Given the description of an element on the screen output the (x, y) to click on. 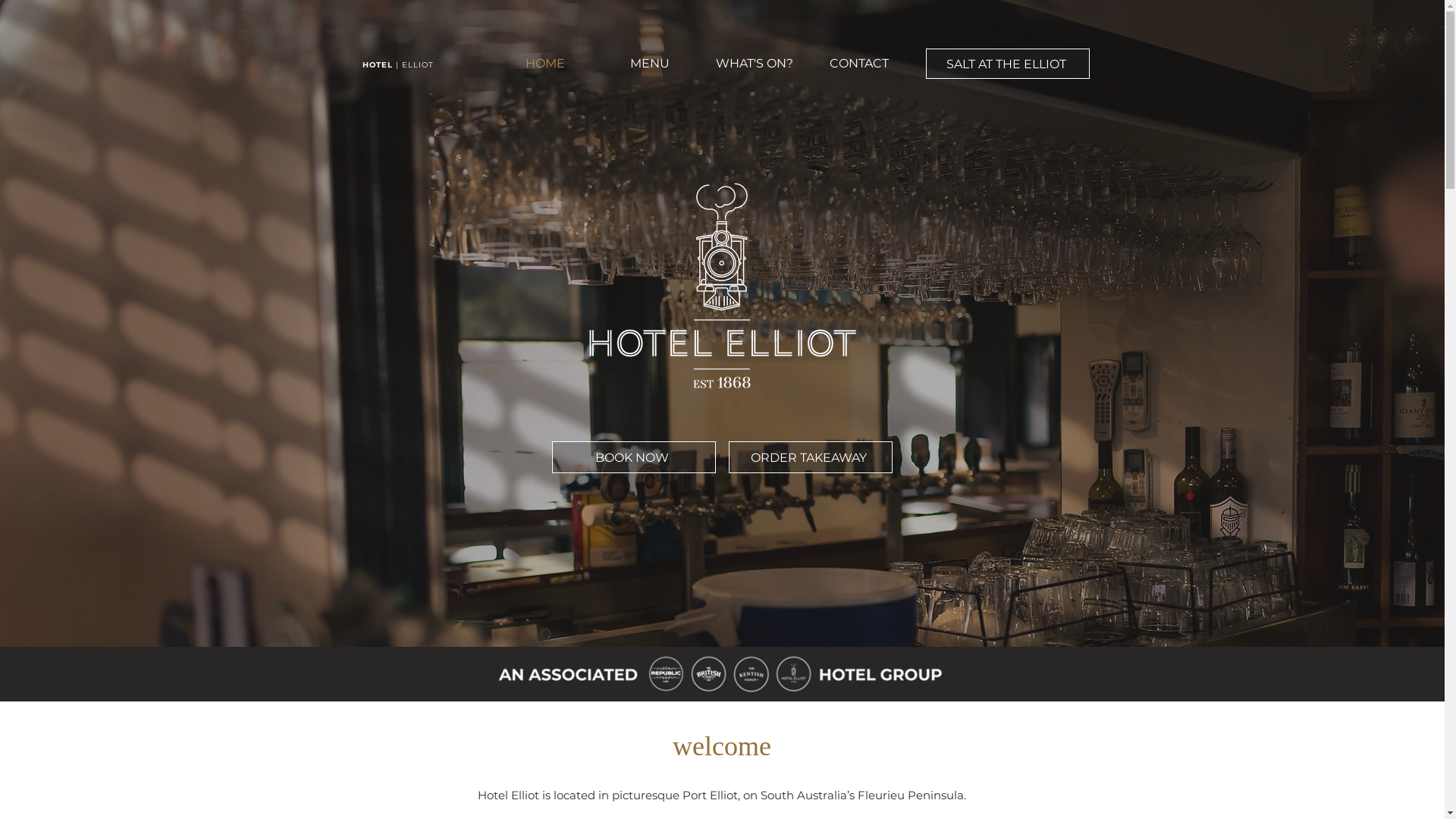
HE_Logo(P)_REV.png Element type: hover (721, 284)
SALT AT THE ELLIOT Element type: text (1006, 63)
MENU Element type: text (649, 63)
ORDER TAKEAWAY Element type: text (809, 457)
CONTACT Element type: text (858, 63)
HOME Element type: text (544, 63)
BOOK NOW Element type: text (633, 457)
WHAT'S ON? Element type: text (754, 63)
